Given the description of an element on the screen output the (x, y) to click on. 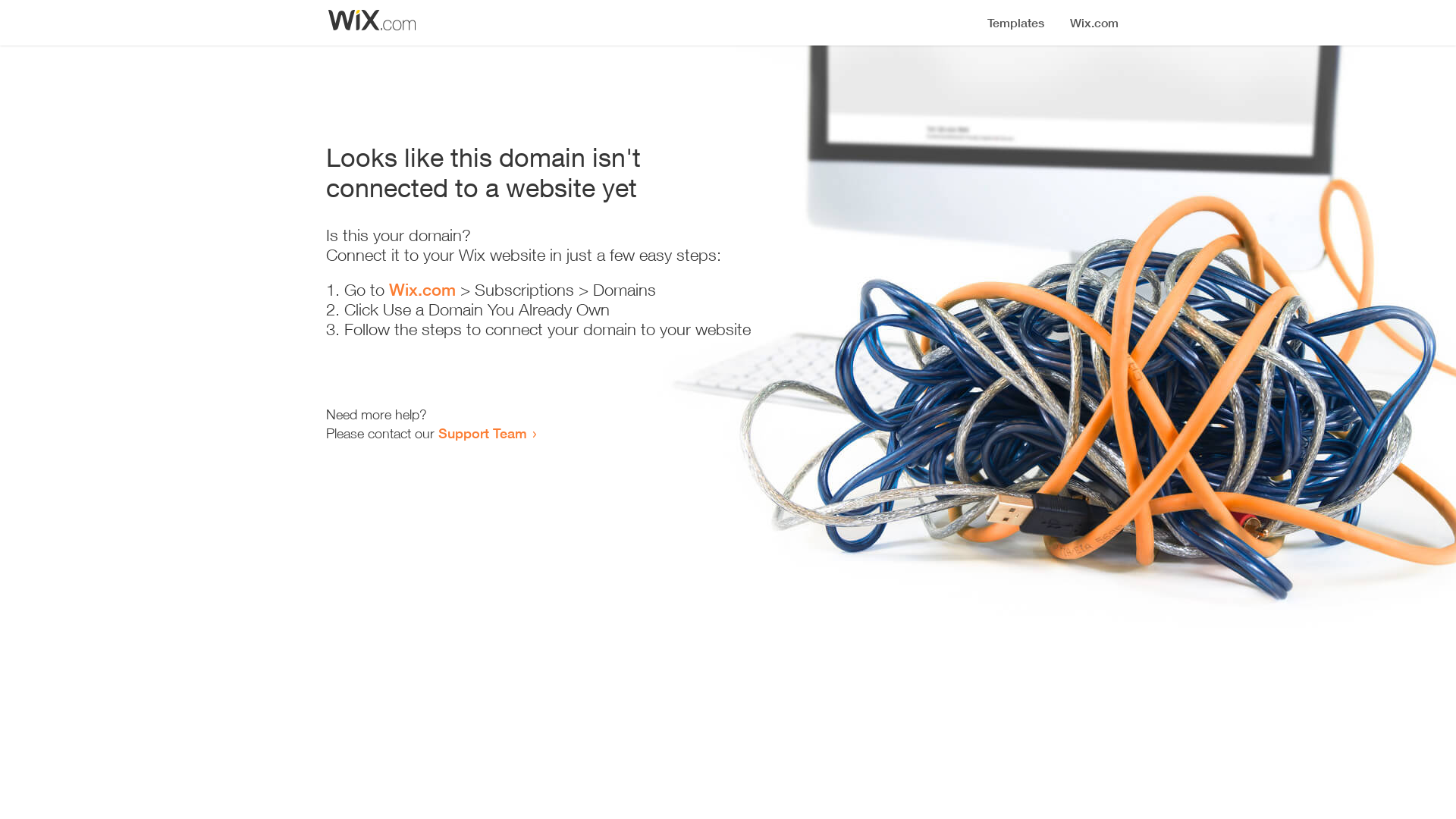
Wix.com Element type: text (422, 289)
Support Team Element type: text (482, 432)
